Given the description of an element on the screen output the (x, y) to click on. 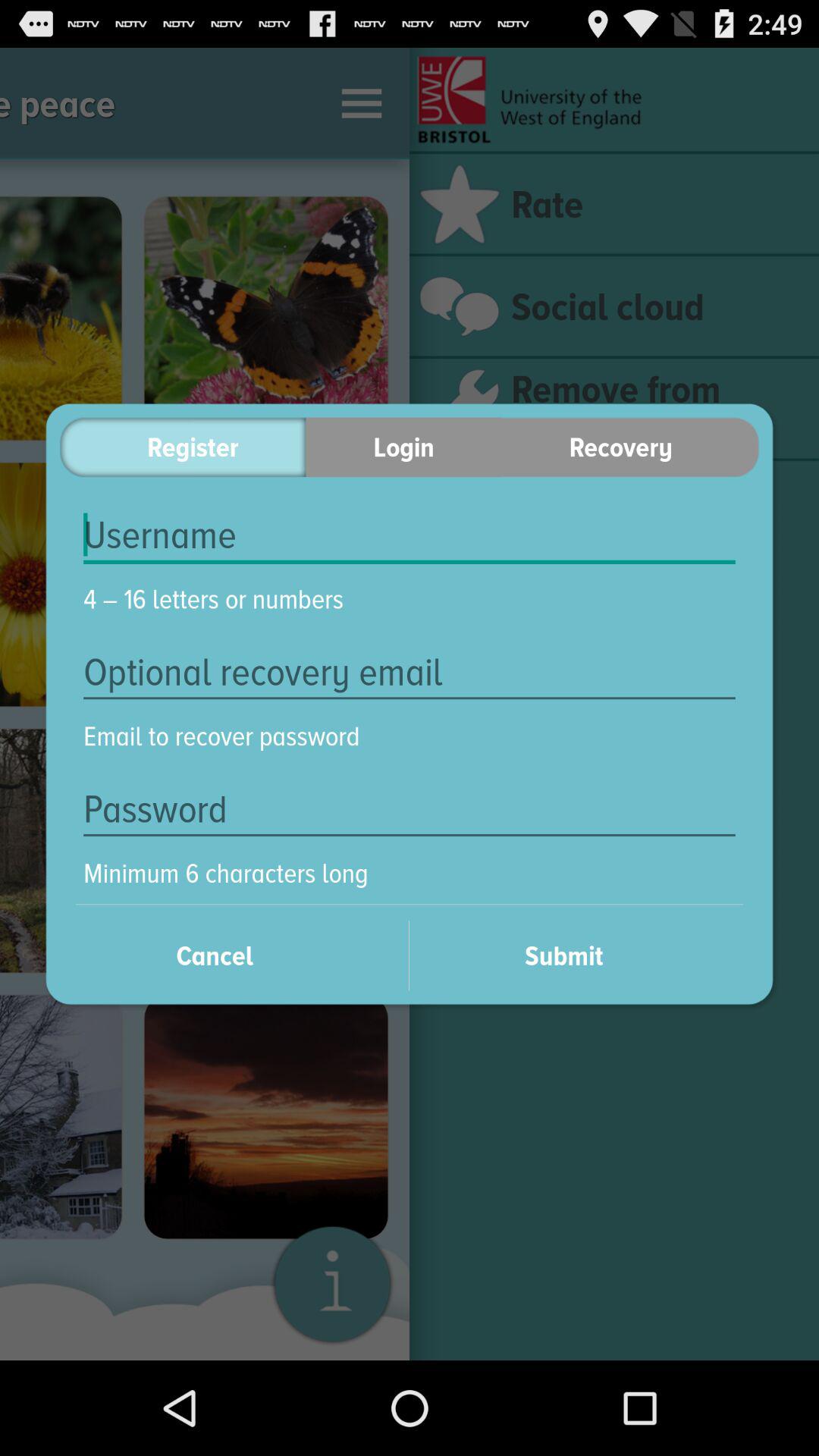
tap the item above the email to recover (409, 672)
